Given the description of an element on the screen output the (x, y) to click on. 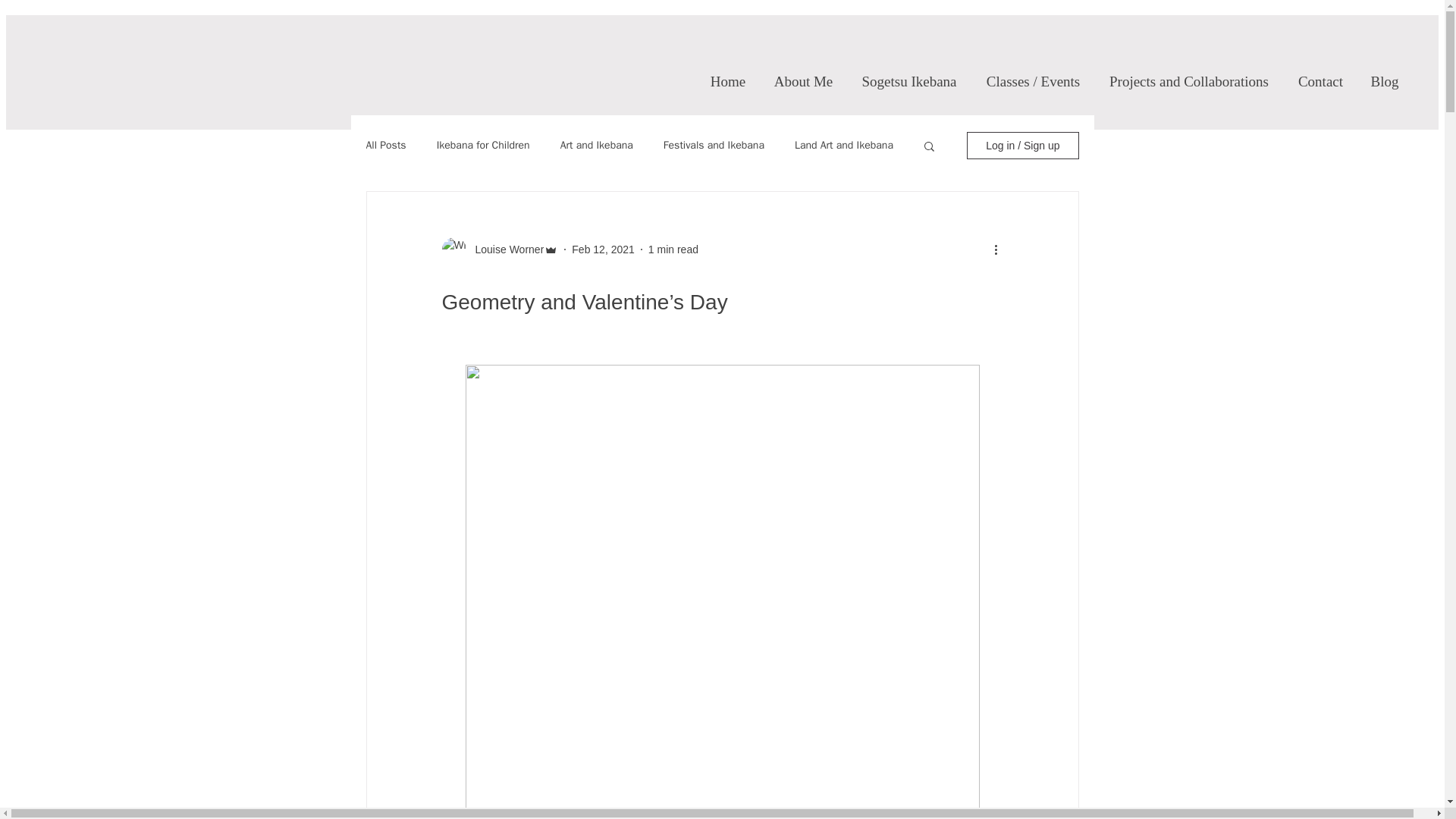
About Me (802, 81)
Festivals and Ikebana (713, 145)
All Posts (385, 145)
Louise Worner (504, 248)
Sogetsu Ikebana (908, 81)
1 min read (672, 248)
Land Art and Ikebana (843, 145)
Blog (1383, 81)
Ikebana for Children (482, 145)
Art and Ikebana (596, 145)
